Given the description of an element on the screen output the (x, y) to click on. 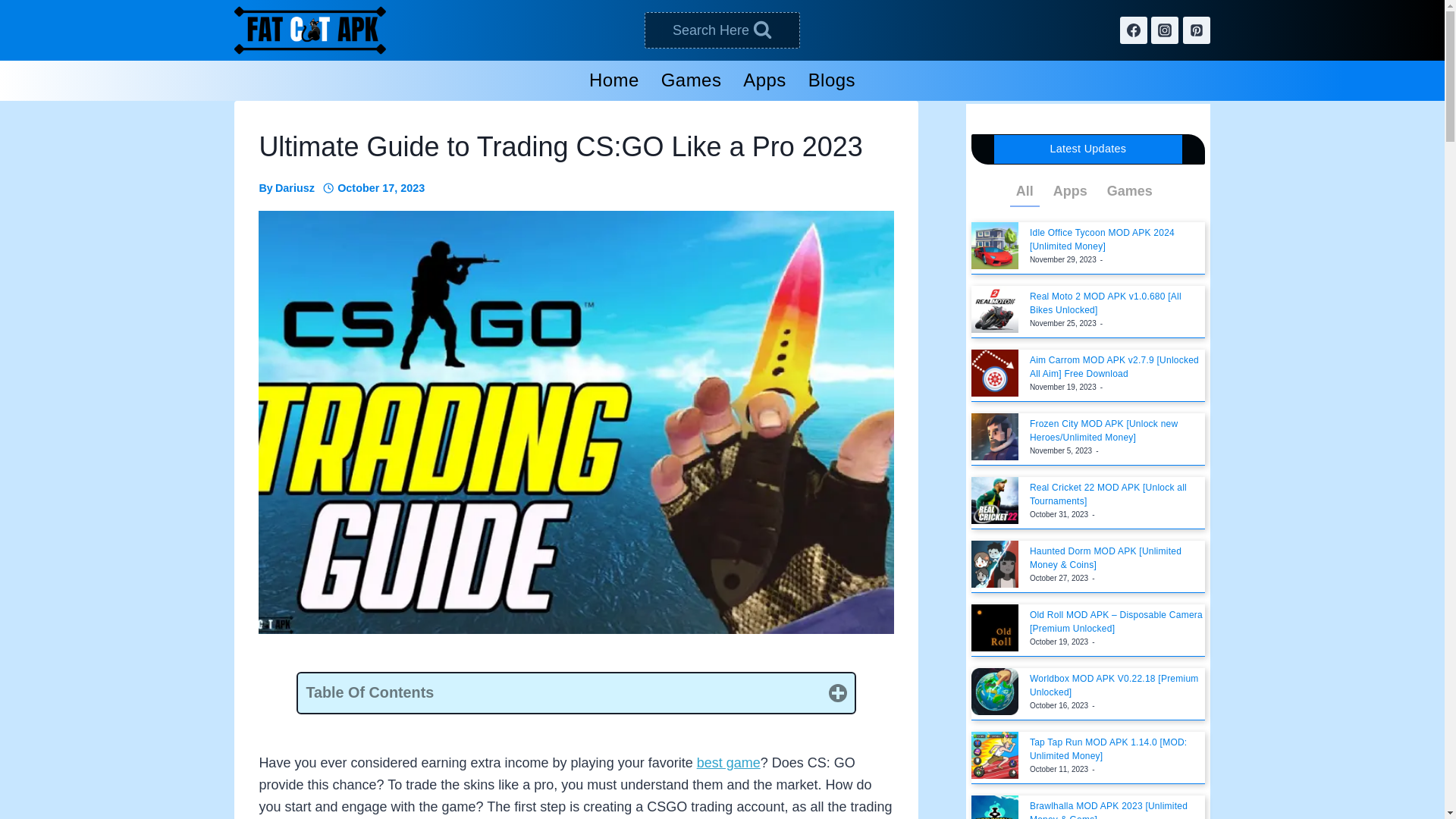
Games (690, 80)
Home (614, 80)
Search Here (722, 30)
Table Of Contents (576, 692)
best game (728, 762)
Blogs (831, 80)
Dariusz (294, 187)
Apps (764, 80)
Table Of Contents (576, 692)
